Given the description of an element on the screen output the (x, y) to click on. 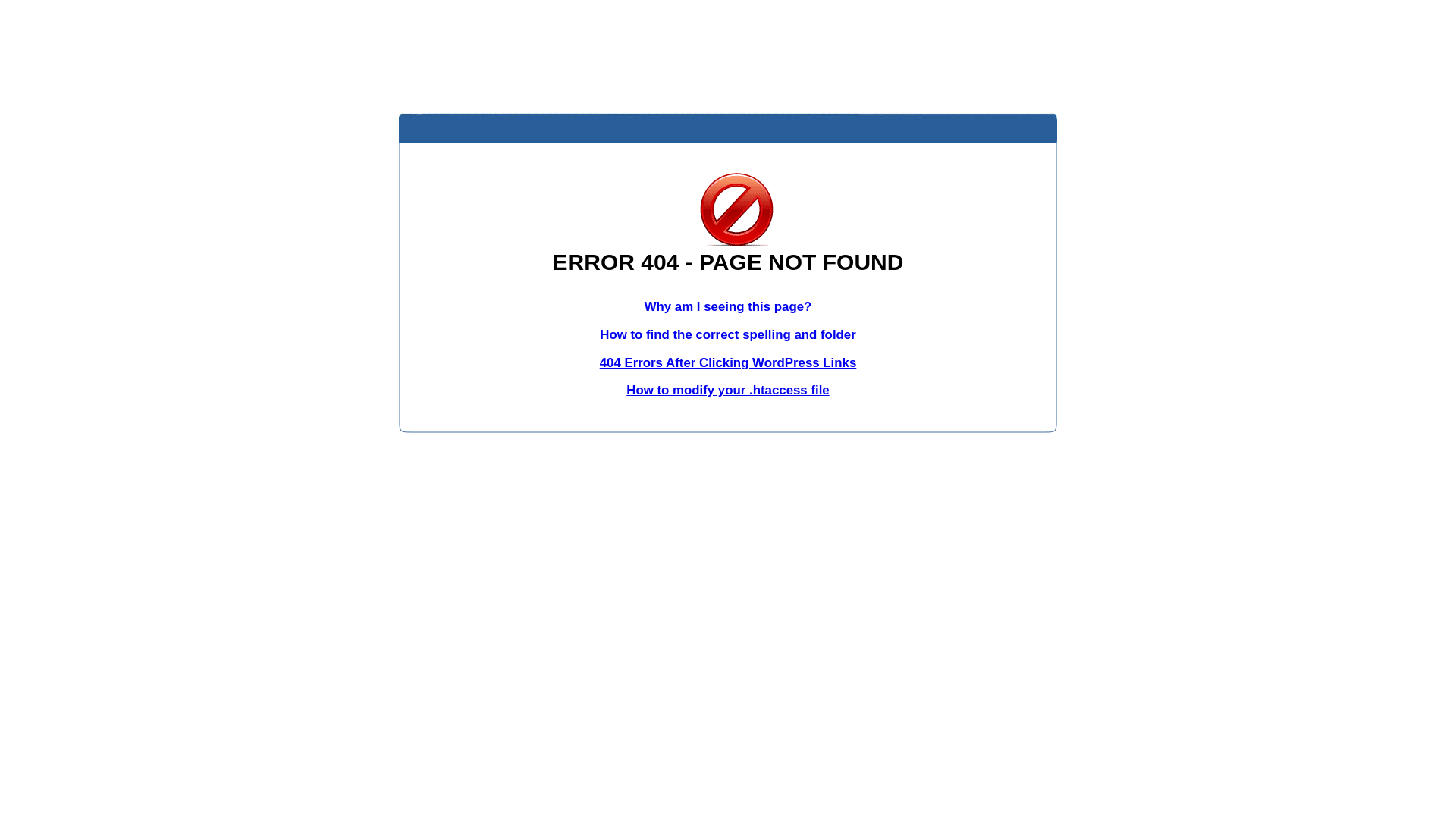
Why am I seeing this page? Element type: text (728, 306)
How to find the correct spelling and folder Element type: text (727, 334)
404 Errors After Clicking WordPress Links Element type: text (727, 362)
How to modify your .htaccess file Element type: text (727, 389)
